Given the description of an element on the screen output the (x, y) to click on. 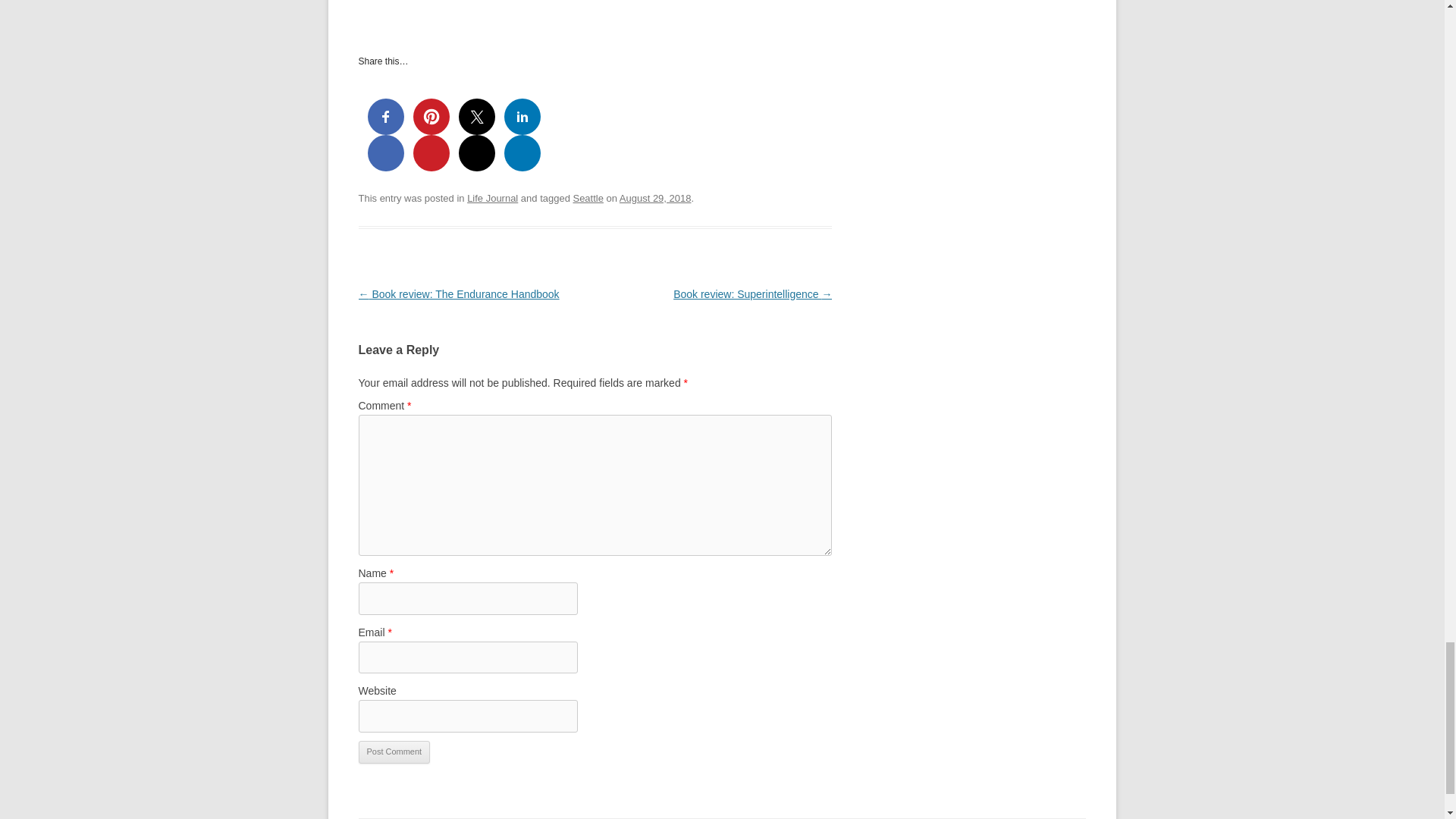
Post Comment (393, 752)
10:10 pm (655, 197)
